Given the description of an element on the screen output the (x, y) to click on. 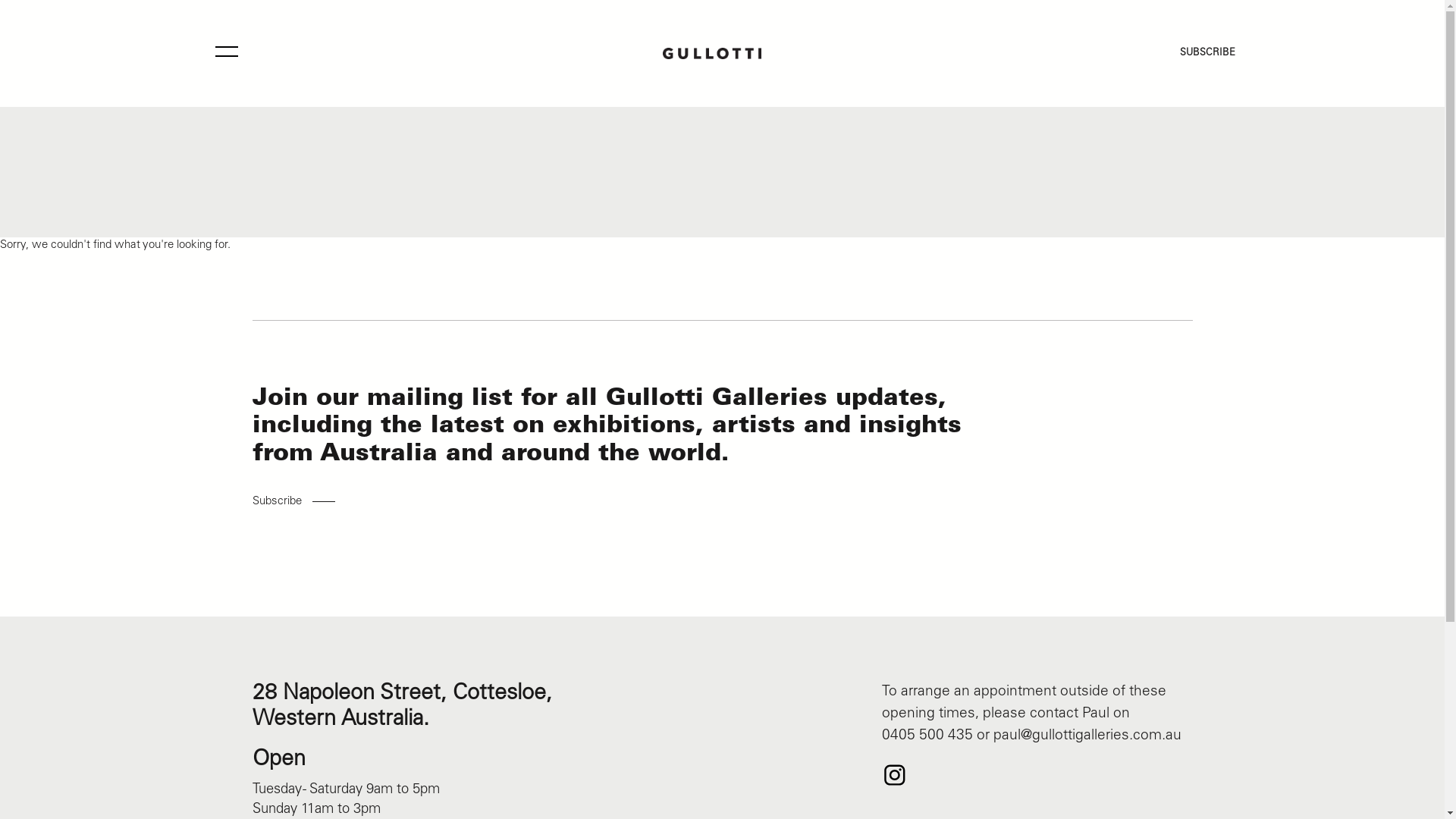
paul@gullottigalleries.com.au Element type: text (1087, 735)
Subscribe Element type: text (292, 502)
SUBSCRIBE Element type: text (1207, 53)
Subscribe Element type: text (310, 781)
